Given the description of an element on the screen output the (x, y) to click on. 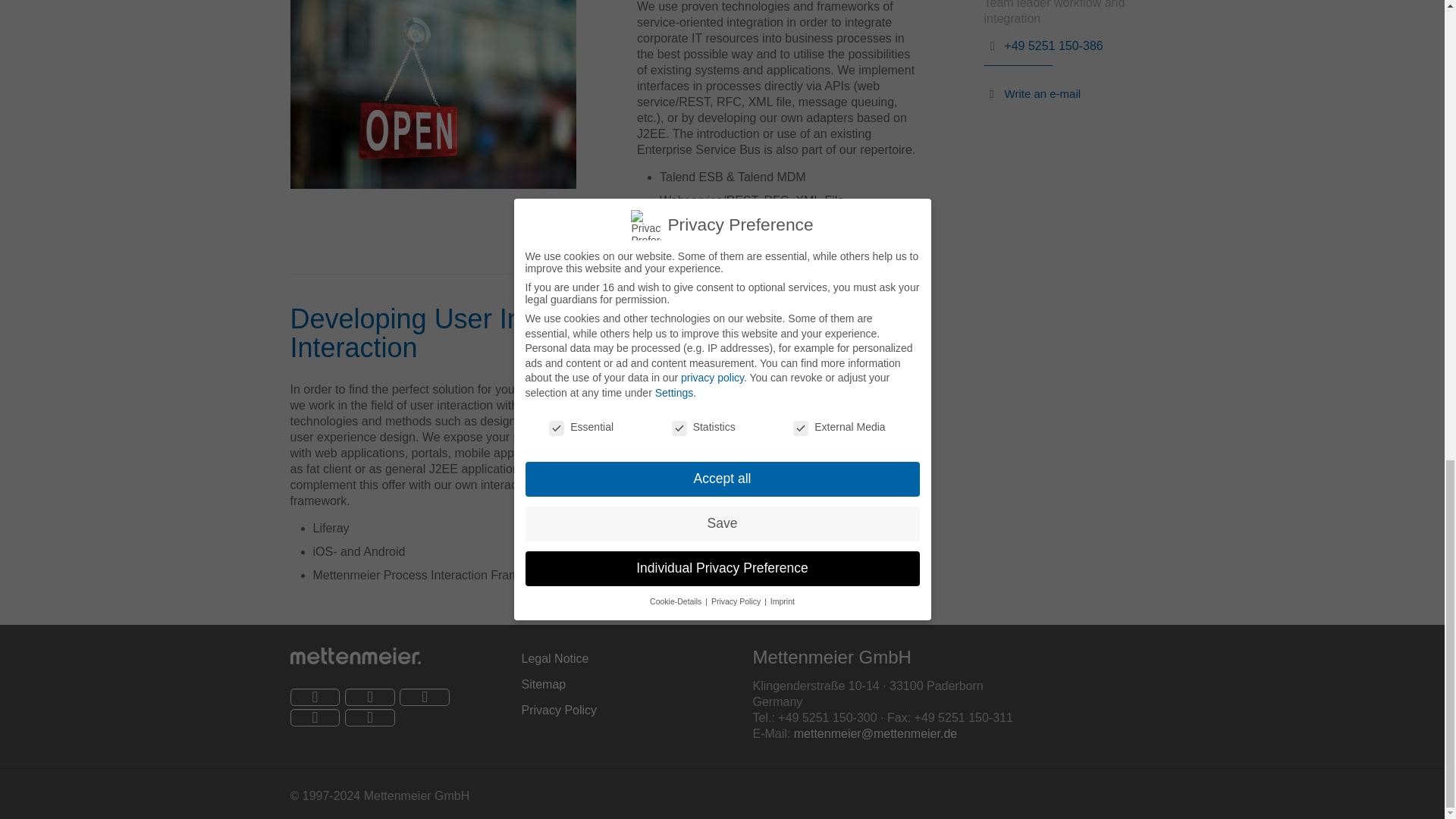
Mettenmeier on Youtube (423, 696)
Mettenmeier on Linkedin (314, 717)
Mettenmeier on Xing (369, 696)
Mettenmeier on Facebook (314, 696)
